Given the description of an element on the screen output the (x, y) to click on. 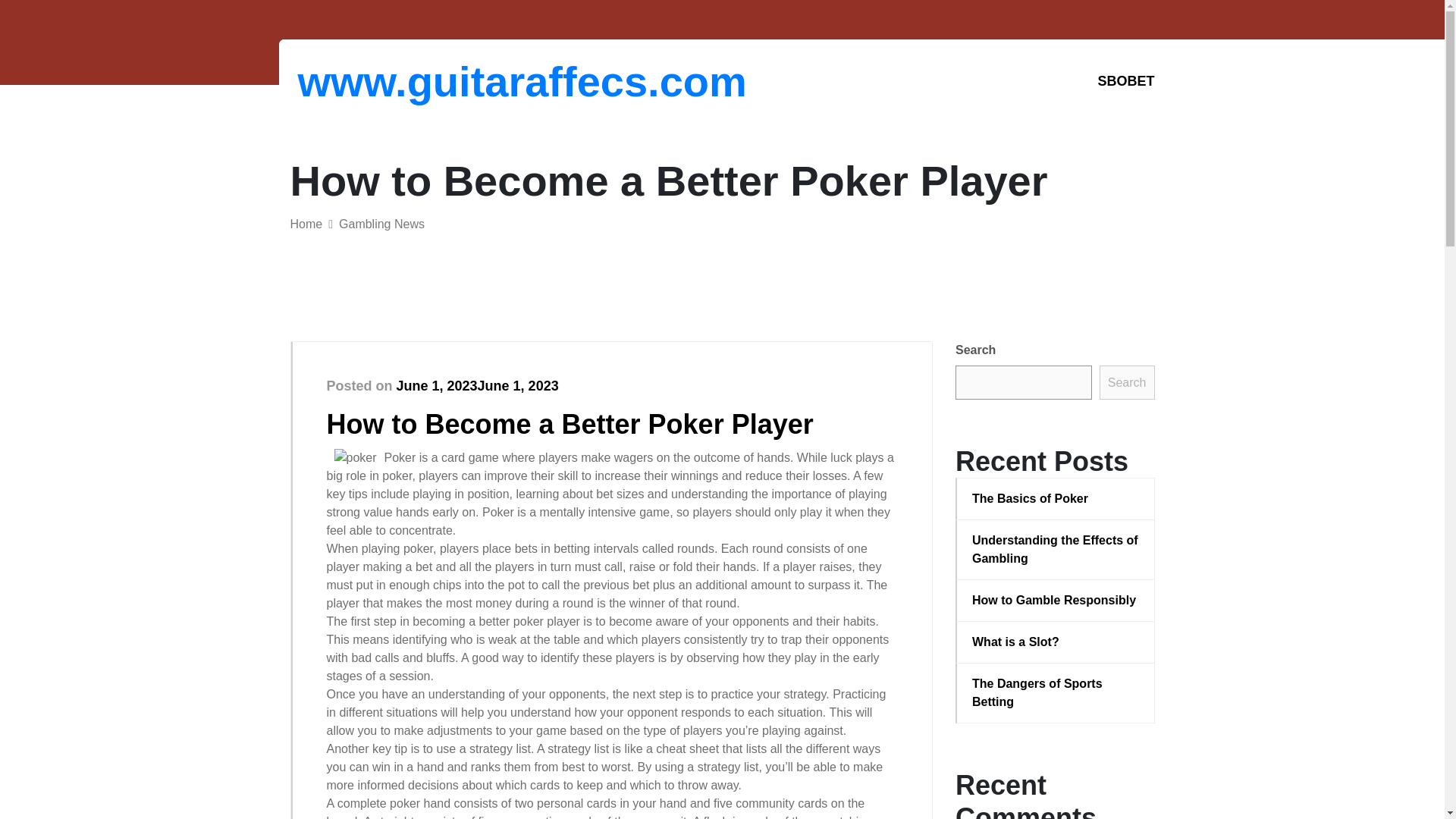
www.guitaraffecs.com (376, 81)
Search (1126, 382)
Understanding the Effects of Gambling (1055, 549)
June 1, 2023June 1, 2023 (477, 385)
How to Become a Better Poker Player (569, 423)
Gambling News (382, 223)
The Basics of Poker (1055, 498)
The Dangers of Sports Betting (1055, 692)
Home (305, 223)
What is a Slot? (1055, 642)
